Given the description of an element on the screen output the (x, y) to click on. 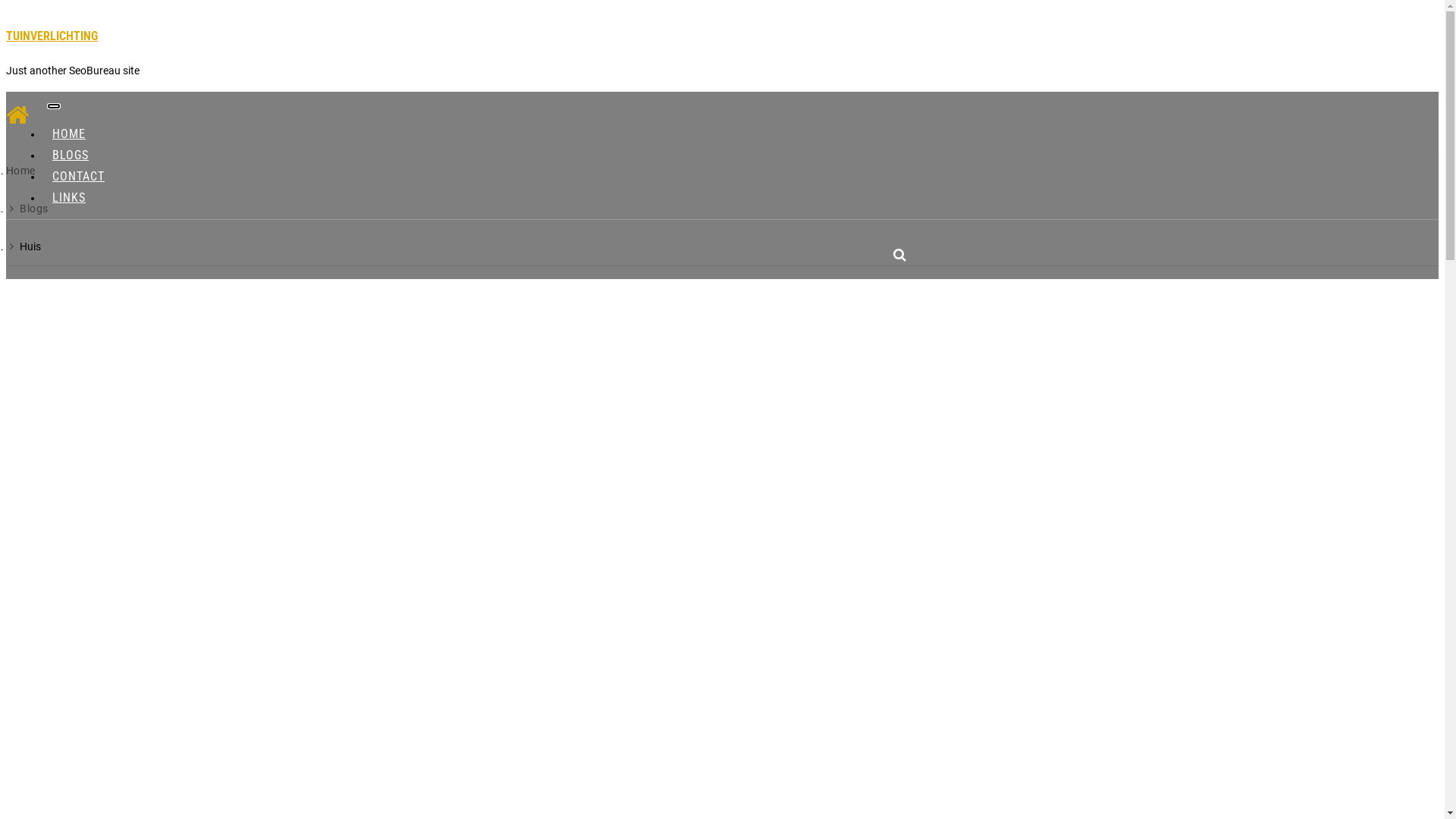
Skip to content Element type: text (5, 5)
BLOGS Element type: text (70, 154)
TUINVERLICHTING Element type: text (51, 35)
Home Element type: text (20, 170)
search_icon Element type: hover (899, 254)
Blogs Element type: text (33, 208)
CONTACT Element type: text (78, 175)
Toggle navigation Element type: text (53, 105)
HOME Element type: text (68, 133)
LINKS Element type: text (68, 197)
